Given the description of an element on the screen output the (x, y) to click on. 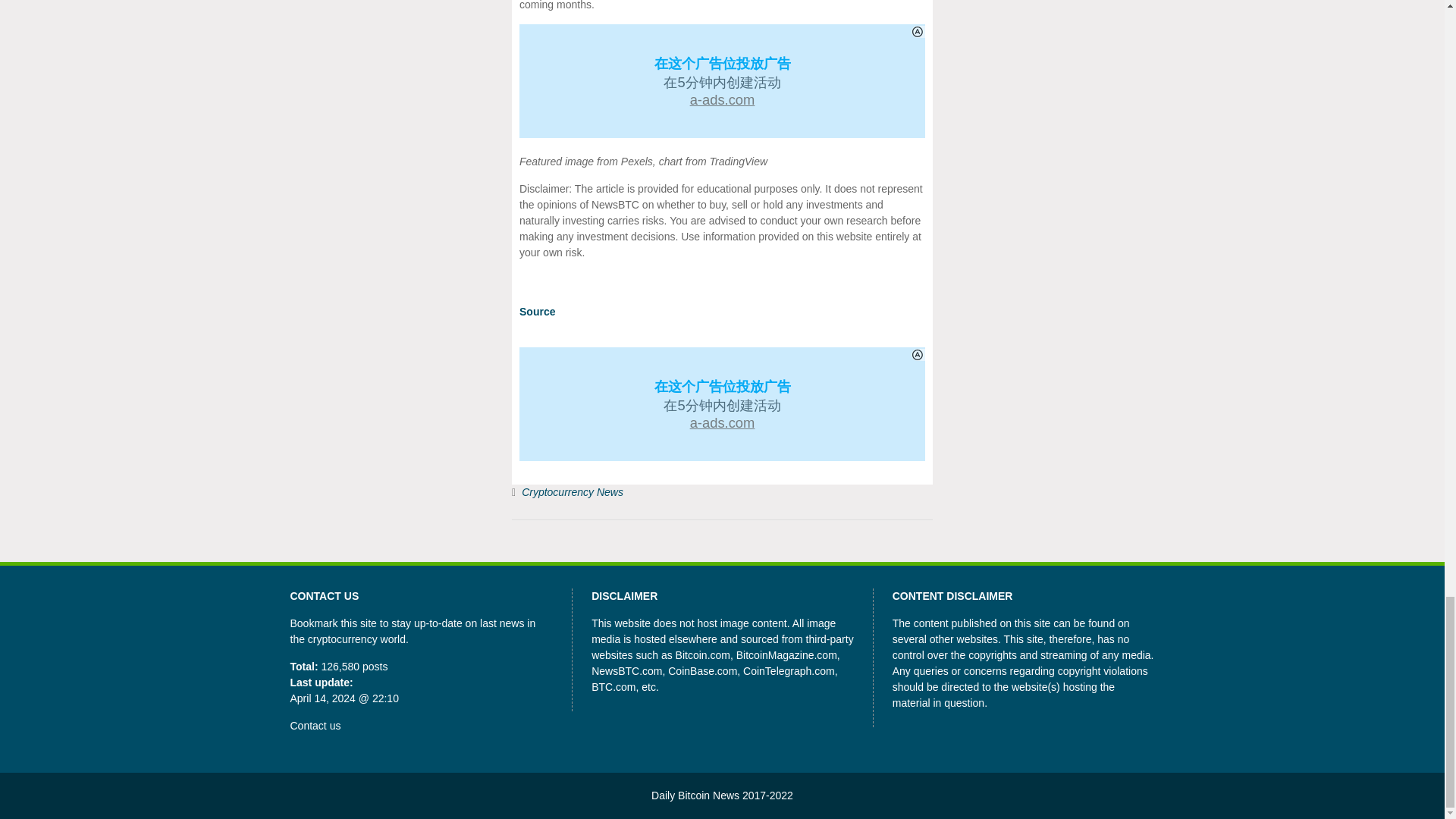
Source (536, 311)
Cryptocurrency News (572, 491)
